Given the description of an element on the screen output the (x, y) to click on. 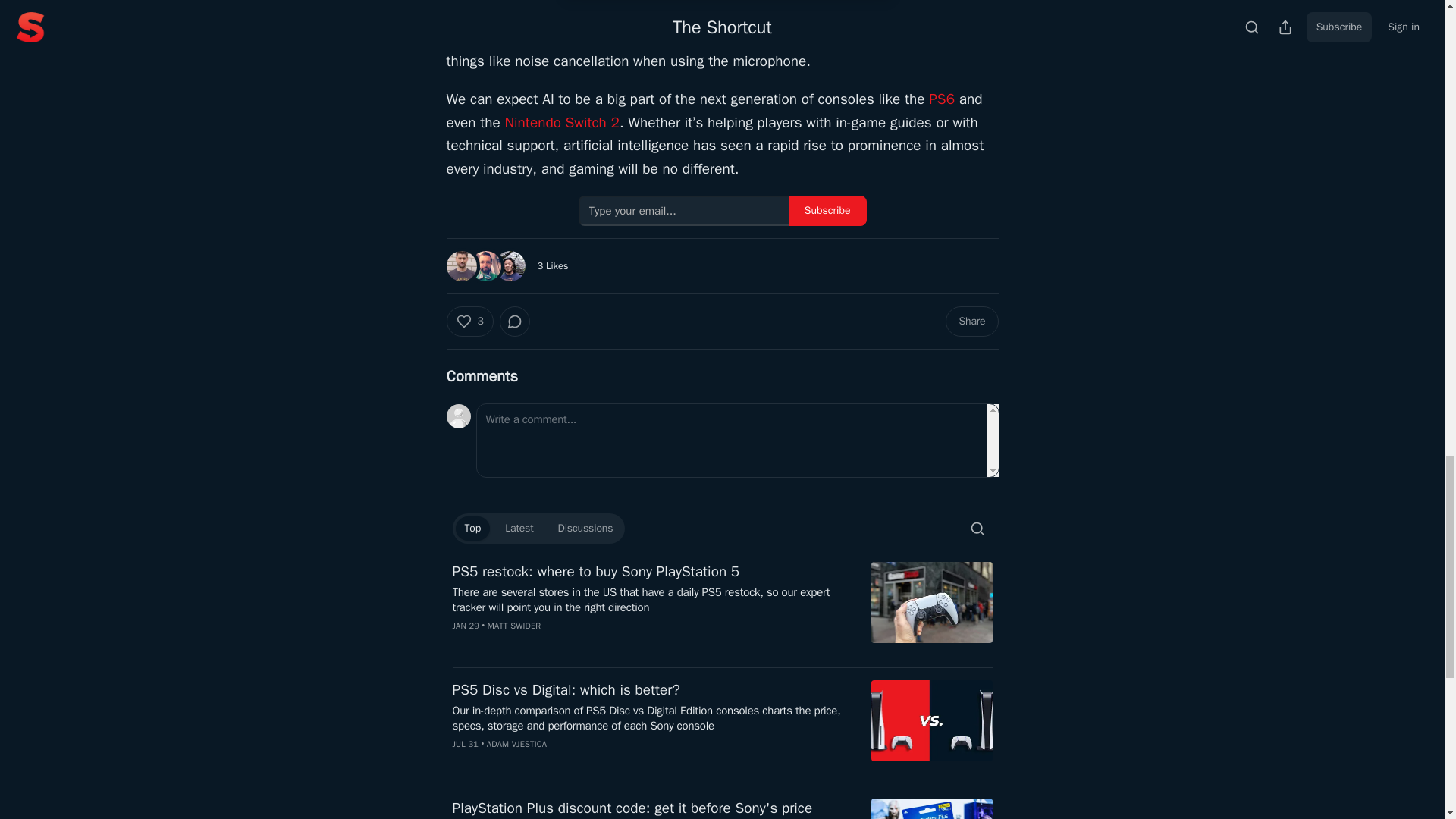
Audeze Maxwell (756, 38)
Nintendo (532, 122)
Switch 2 (593, 122)
Subscribe (827, 210)
PS6 (941, 99)
PS5 Pro (908, 0)
